Given the description of an element on the screen output the (x, y) to click on. 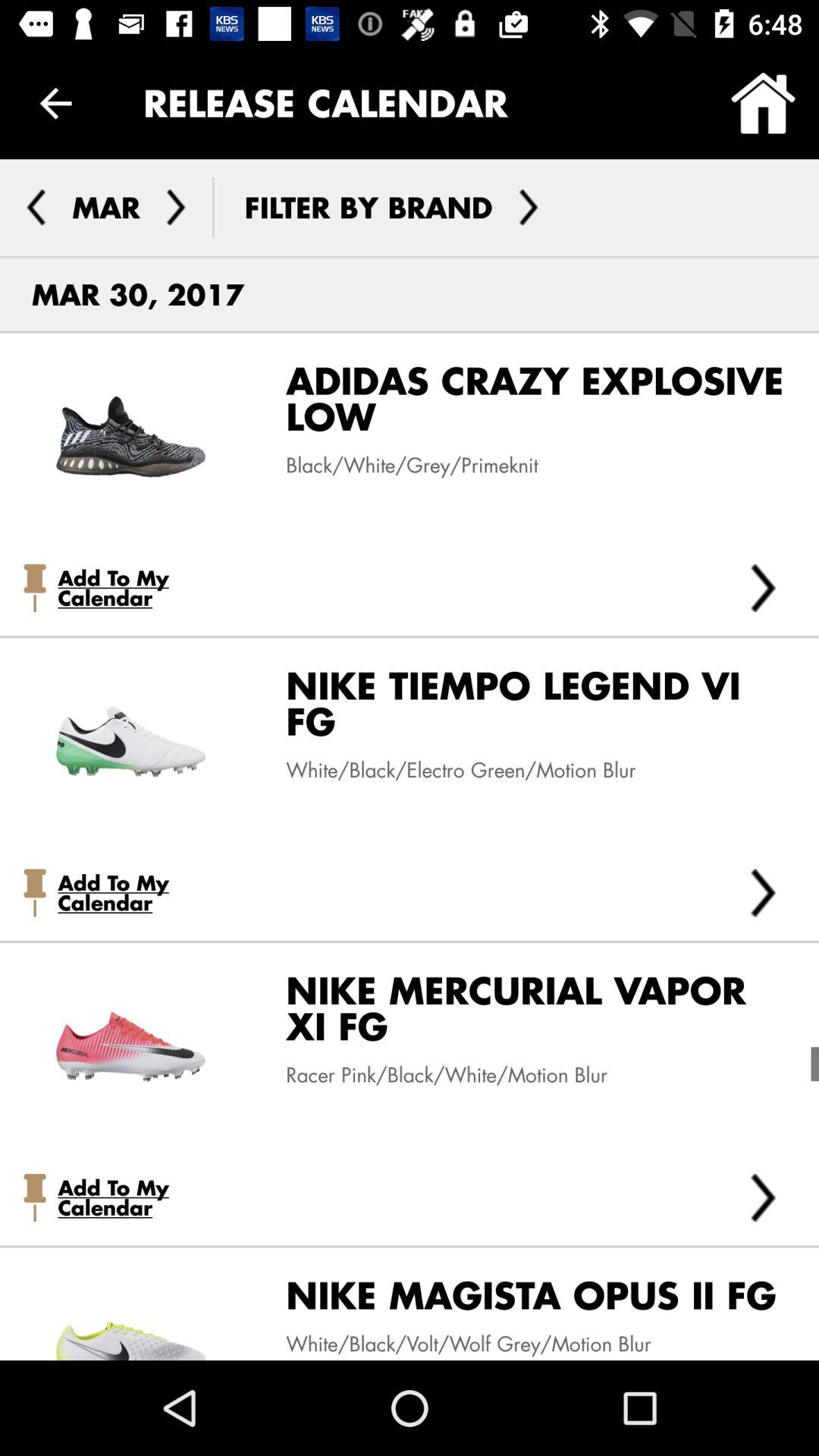
open the icon below the nike mercurial vapor (763, 1197)
